Given the description of an element on the screen output the (x, y) to click on. 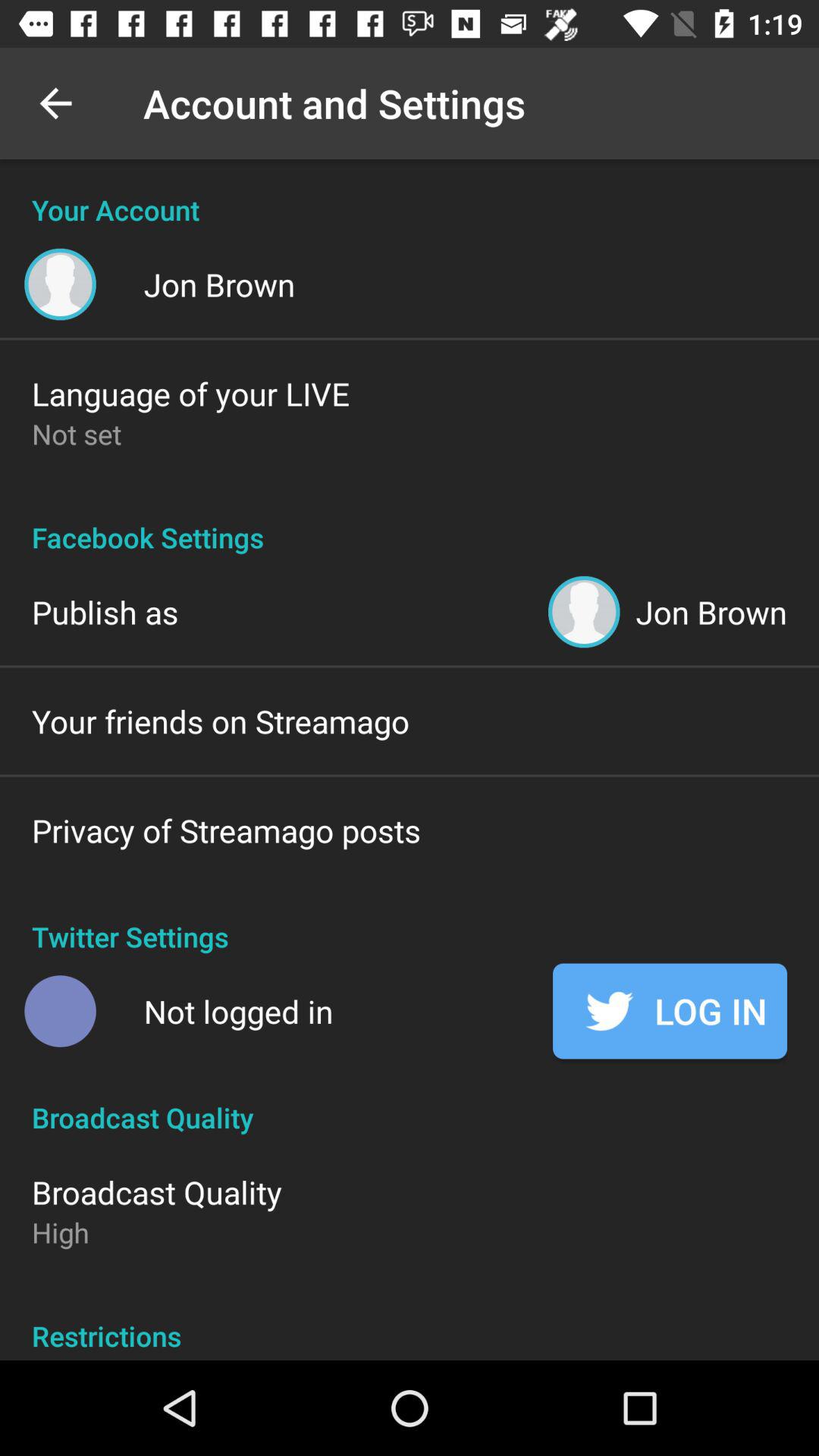
turn on item below twitter settings item (238, 1010)
